Given the description of an element on the screen output the (x, y) to click on. 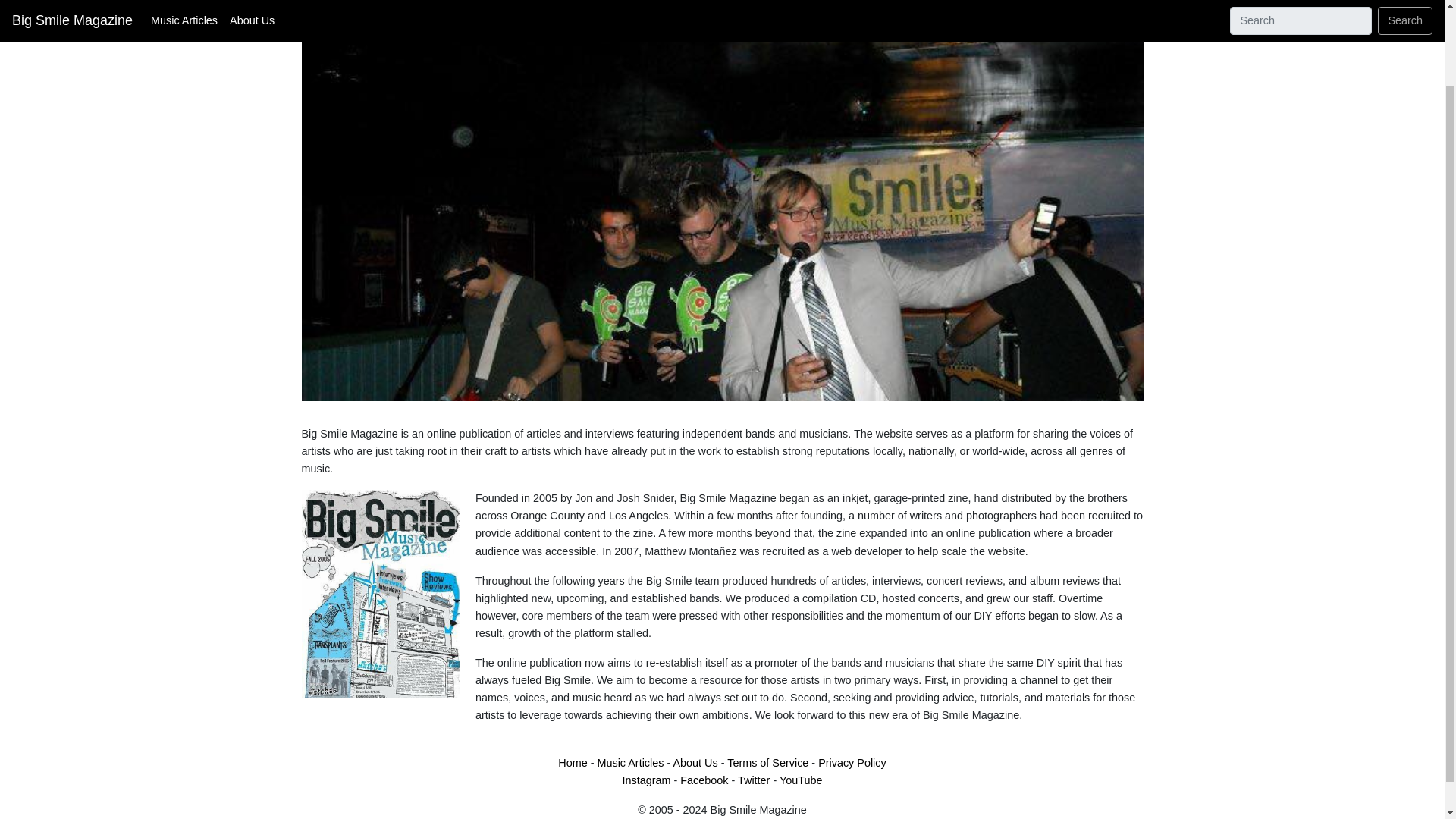
Music Articles (629, 762)
Instagram (645, 779)
Facebook (703, 779)
About Us (694, 762)
Terms of Service (767, 762)
Twitter (754, 779)
Home (571, 762)
YouTube (800, 779)
Privacy Policy (852, 762)
